Given the description of an element on the screen output the (x, y) to click on. 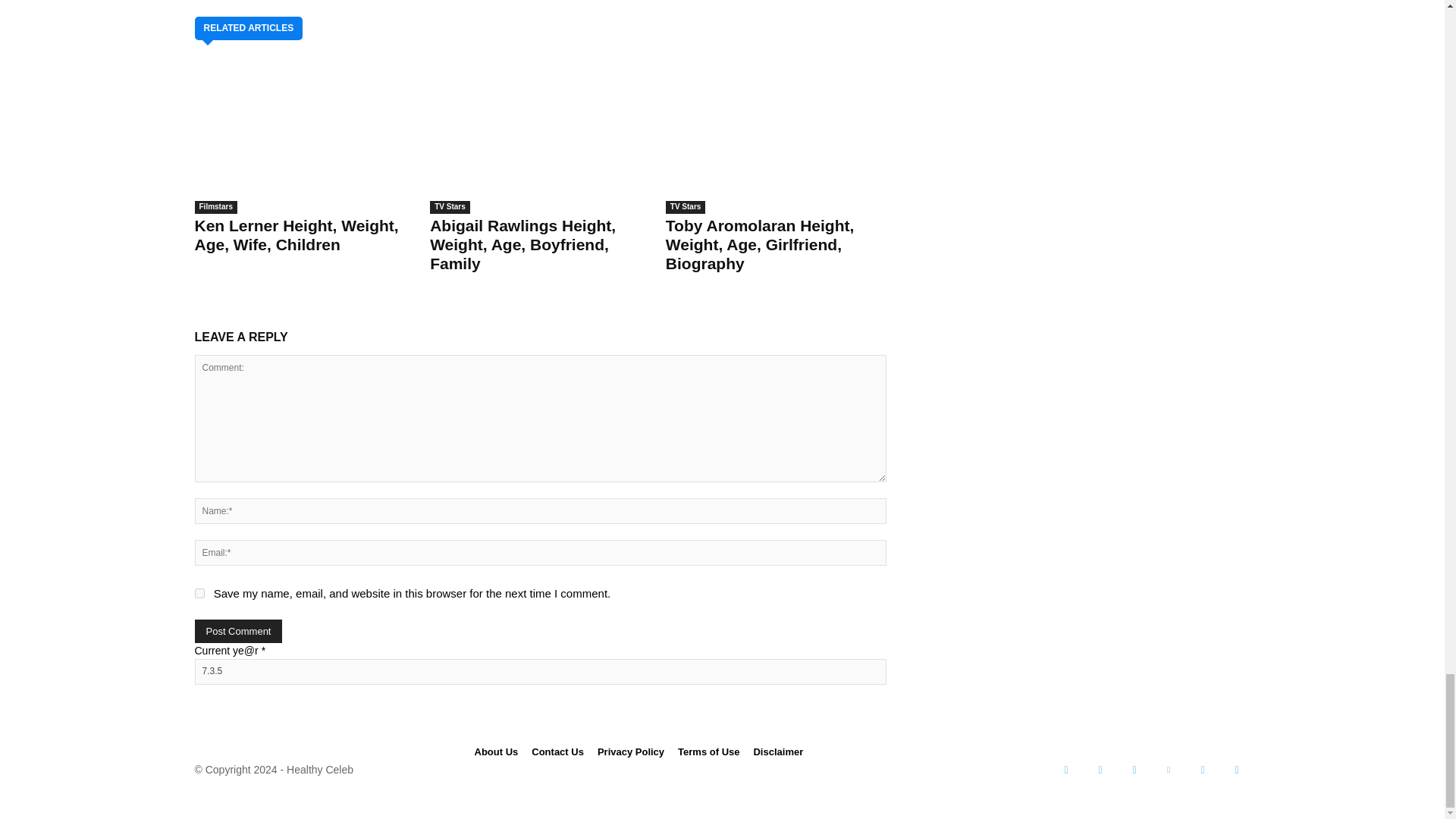
7.3.5 (539, 671)
yes (198, 593)
Post Comment (237, 630)
